Given the description of an element on the screen output the (x, y) to click on. 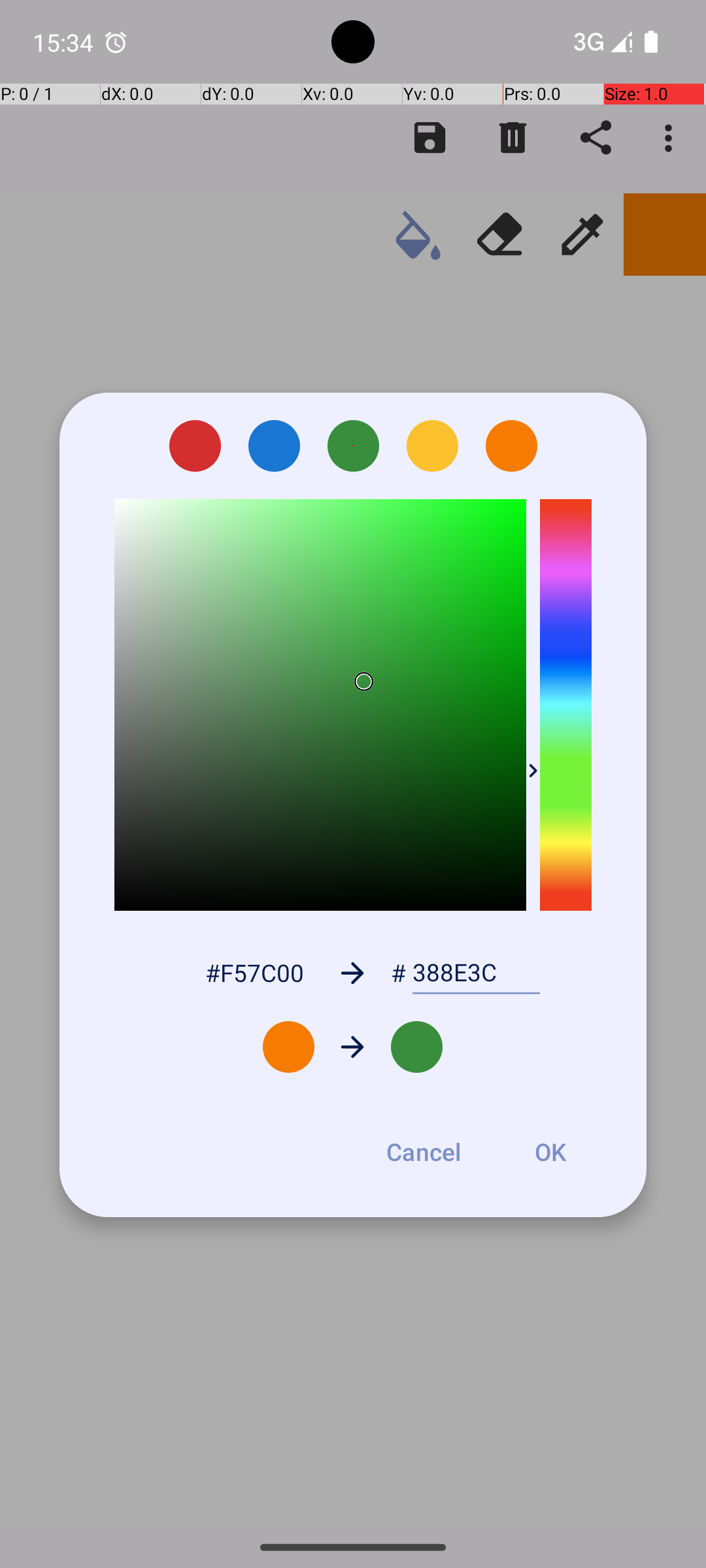
388E3C Element type: android.widget.EditText (475, 972)
